Given the description of an element on the screen output the (x, y) to click on. 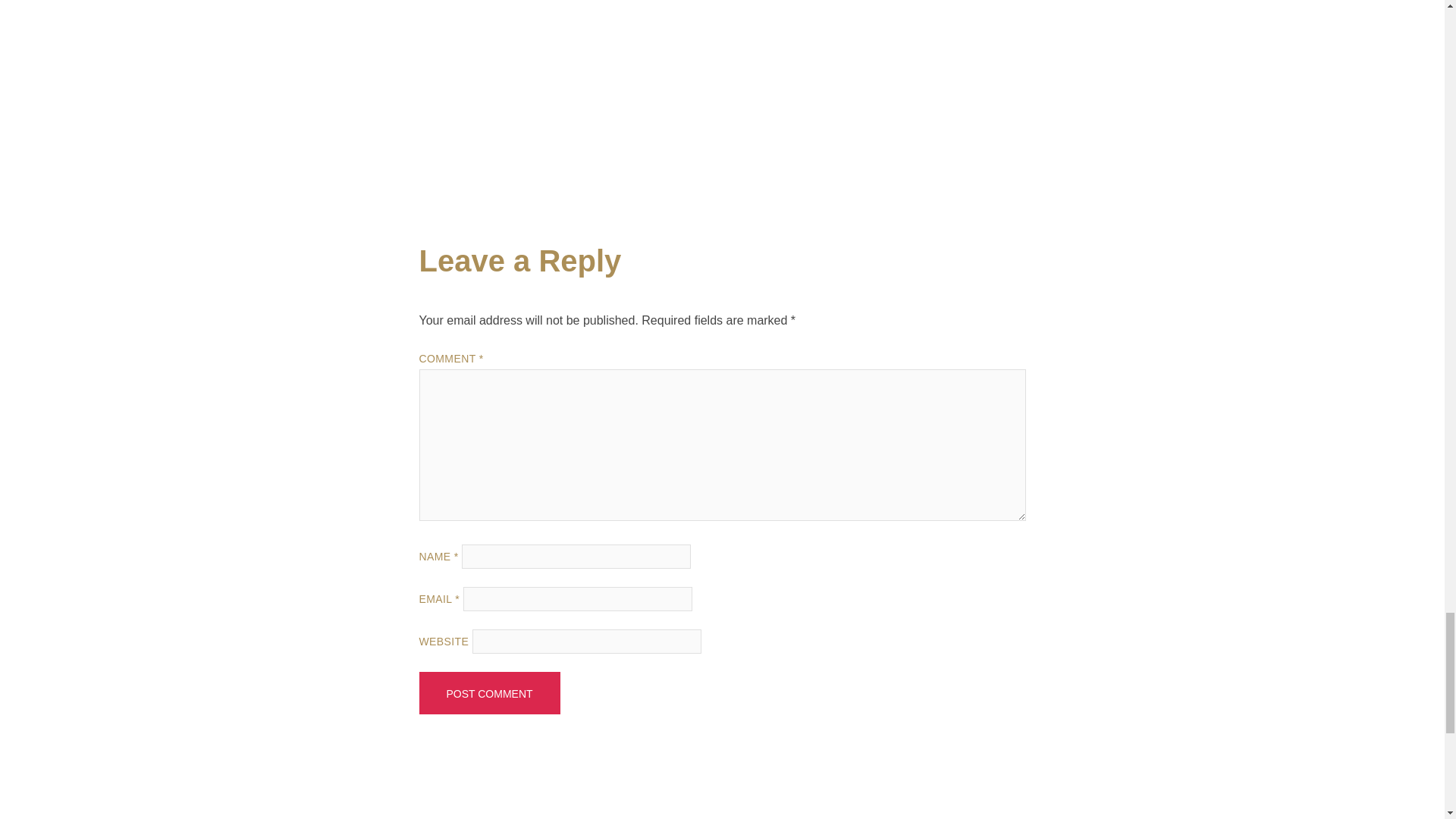
Post Comment (489, 692)
